Given the description of an element on the screen output the (x, y) to click on. 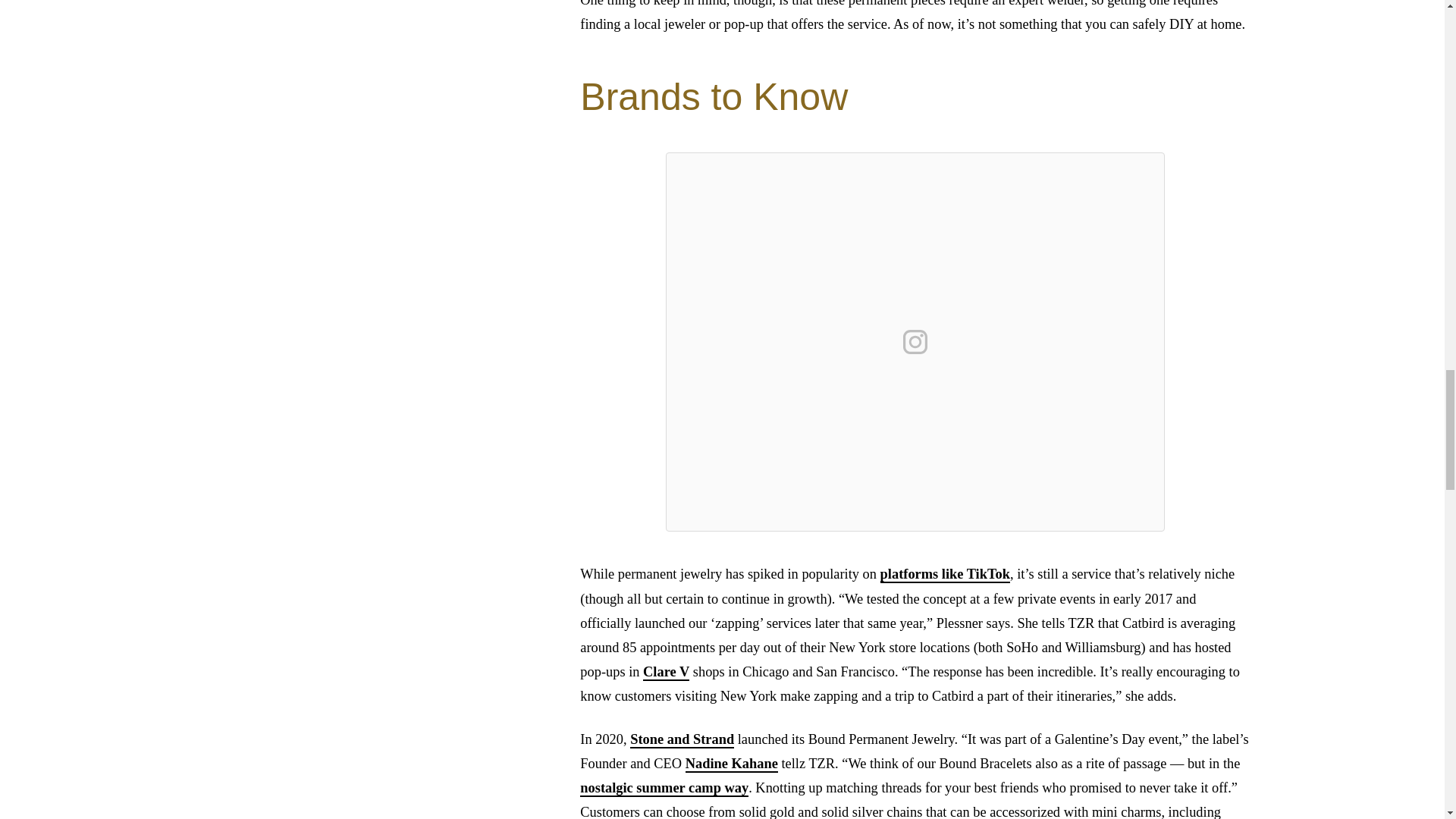
Clare V (665, 672)
nostalgic summer camp way (663, 788)
View on Instagram (914, 341)
Nadine Kahane (731, 764)
Stone and Strand (681, 740)
platforms like TikTok (945, 574)
